Given the description of an element on the screen output the (x, y) to click on. 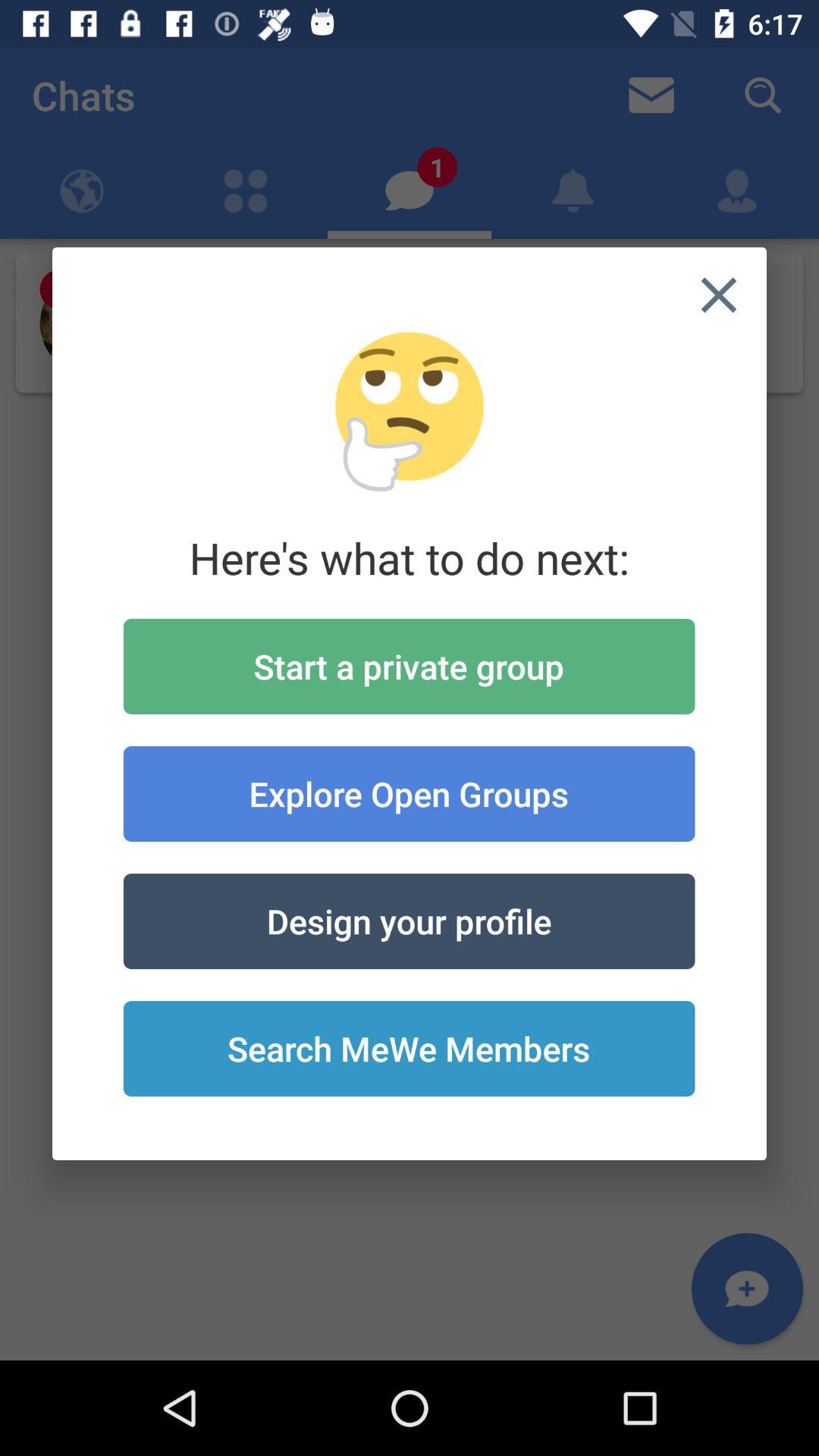
launch icon below here s what item (409, 666)
